Given the description of an element on the screen output the (x, y) to click on. 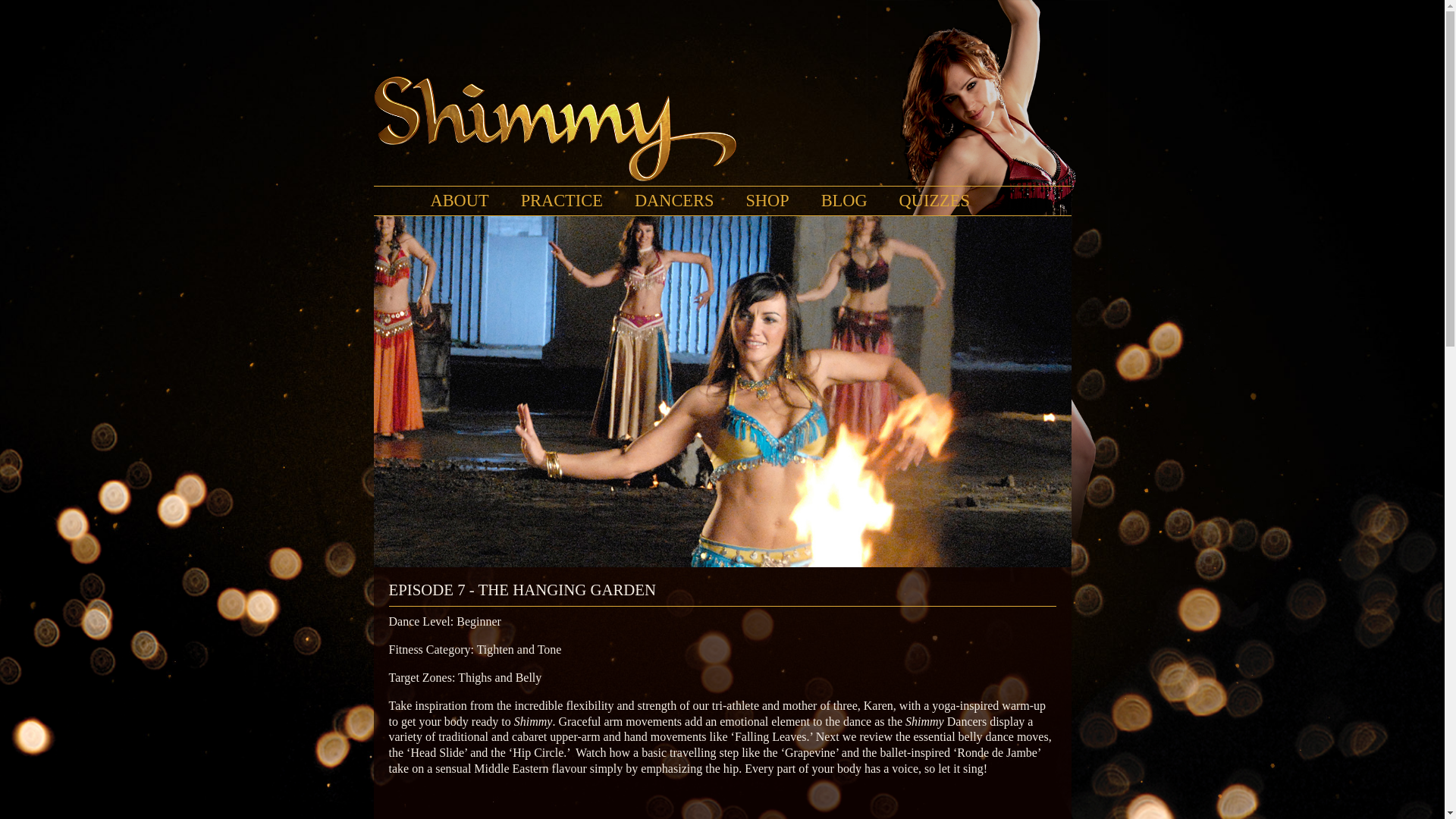
PRACTICE (561, 199)
BLOG (844, 199)
ABOUT (459, 199)
DANCERS (674, 199)
QUIZZES (934, 199)
Shimmy  (729, 128)
SHOP (767, 199)
